Given the description of an element on the screen output the (x, y) to click on. 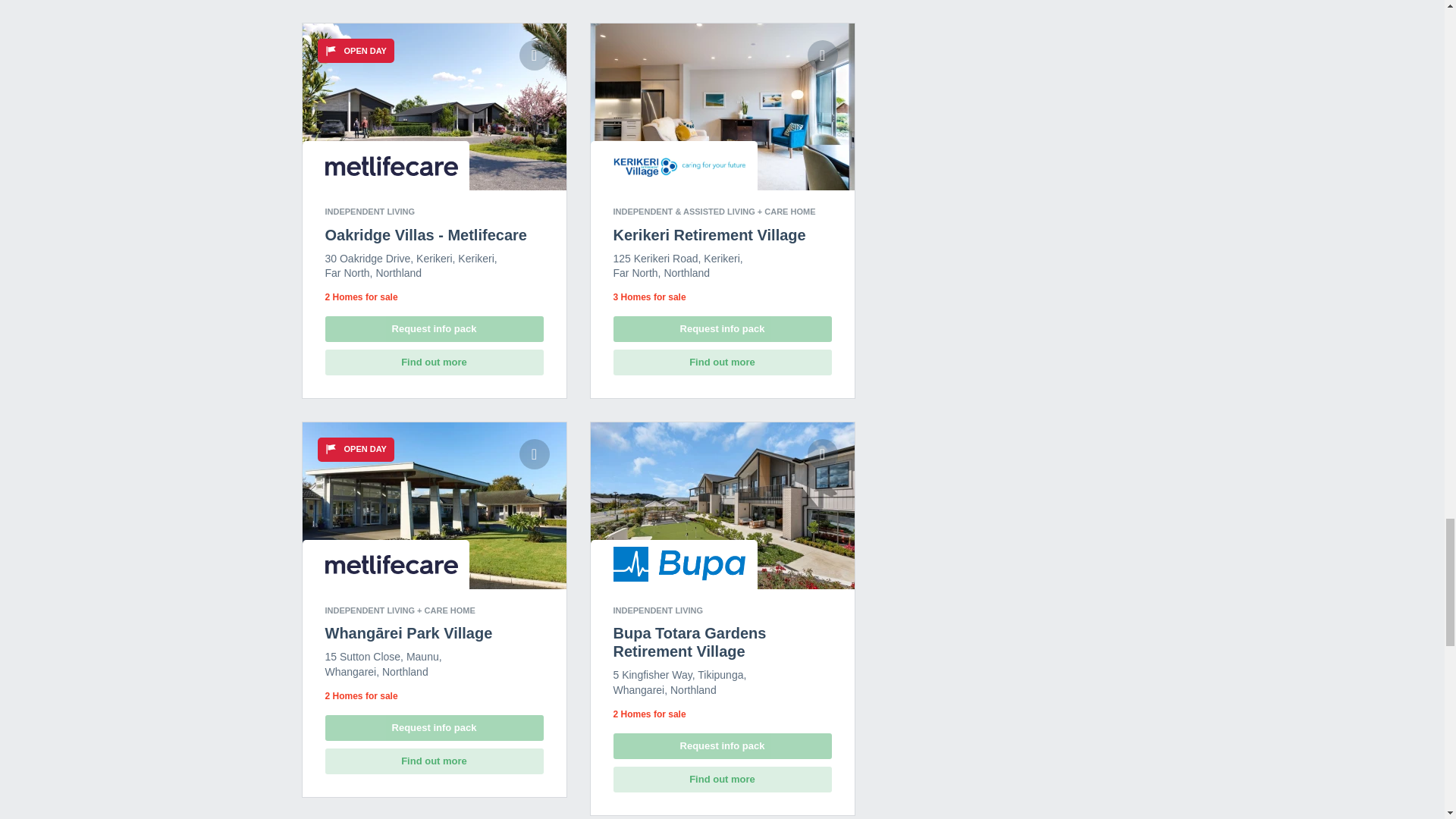
Metlifecare logo (390, 166)
Bupa logo (678, 564)
Metlifecare logo (390, 564)
Kerikeri Retirement Village Limited logo (678, 165)
